Given the description of an element on the screen output the (x, y) to click on. 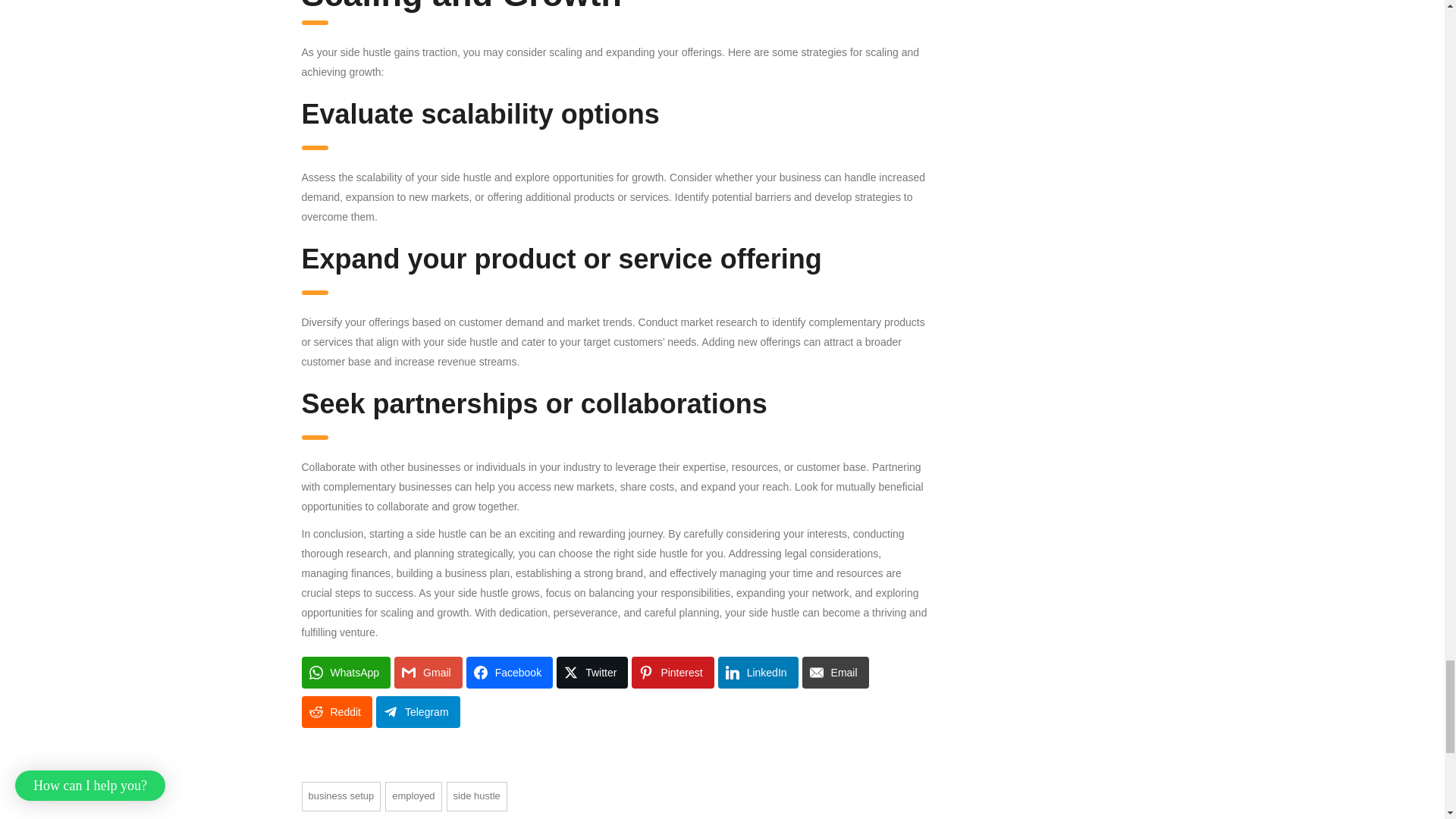
LinkedIn (757, 672)
Share on Facebook (509, 672)
side hustle (476, 796)
Pinterest (672, 672)
Telegram (417, 712)
Reddit (336, 712)
Share on Pinterest (672, 672)
WhatsApp (346, 672)
Share on LinkedIn (757, 672)
Share on WhatsApp (346, 672)
Email (835, 672)
Share on Gmail (428, 672)
Gmail (428, 672)
Share on Email (835, 672)
employed (413, 796)
